Given the description of an element on the screen output the (x, y) to click on. 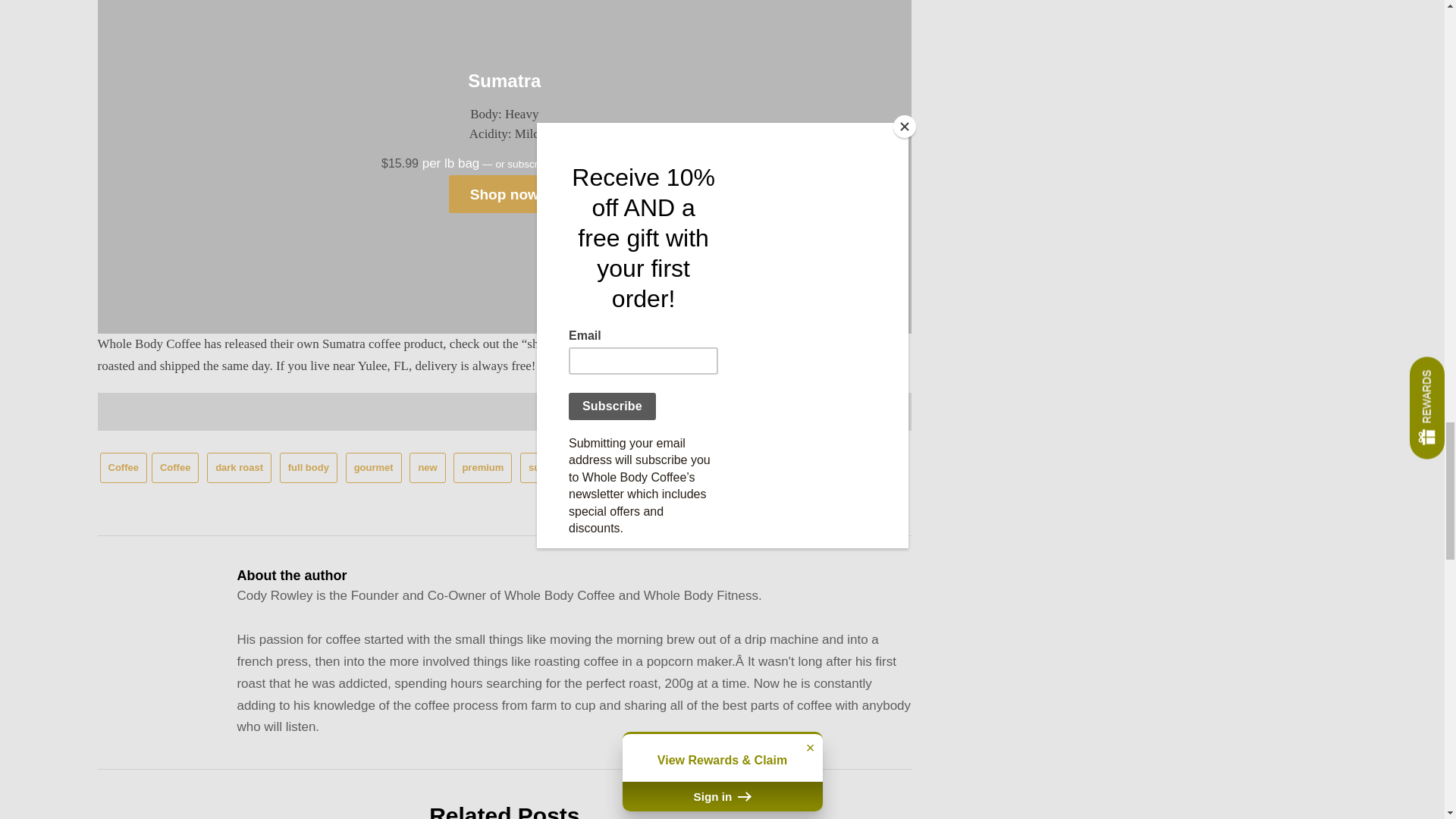
Coffee (174, 468)
dark roast (238, 468)
full body (308, 468)
Coffee (123, 468)
premium (482, 468)
gourmet (373, 468)
sumatra (547, 468)
new (427, 468)
Shop now (503, 194)
